Given the description of an element on the screen output the (x, y) to click on. 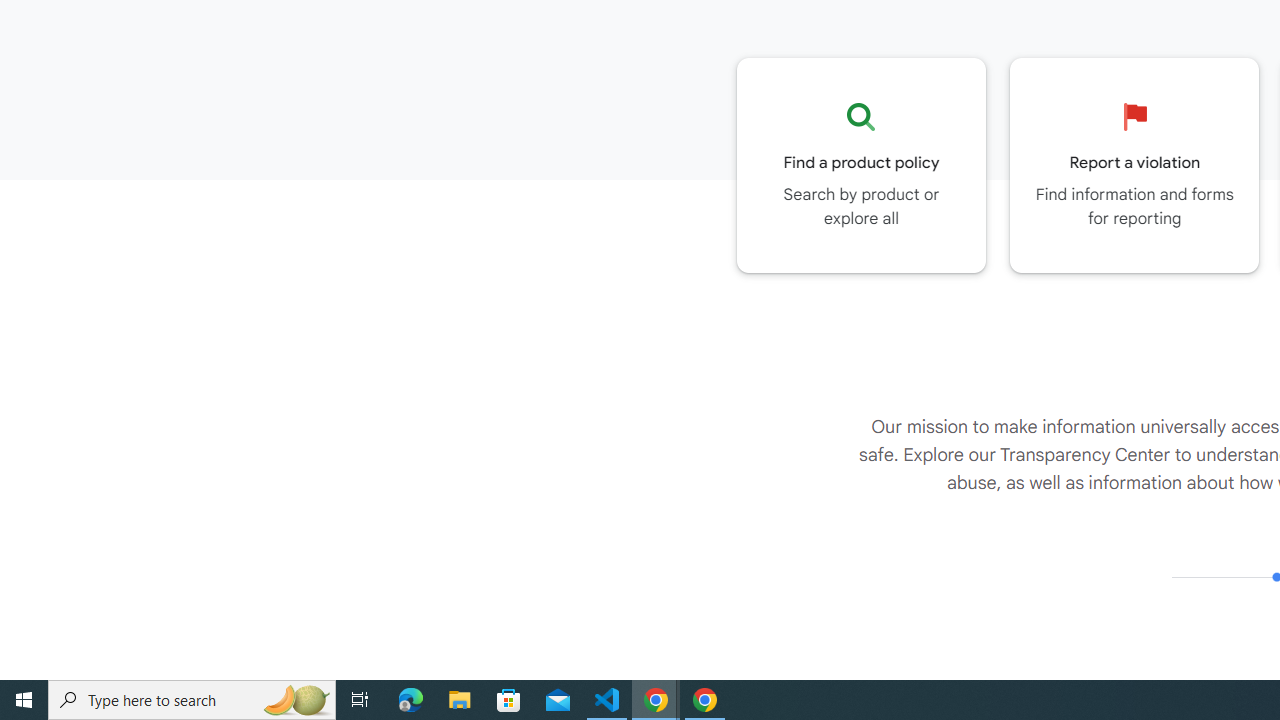
Go to the Reporting and appeals page (1134, 165)
Go to the Product policy page (861, 165)
